Given the description of an element on the screen output the (x, y) to click on. 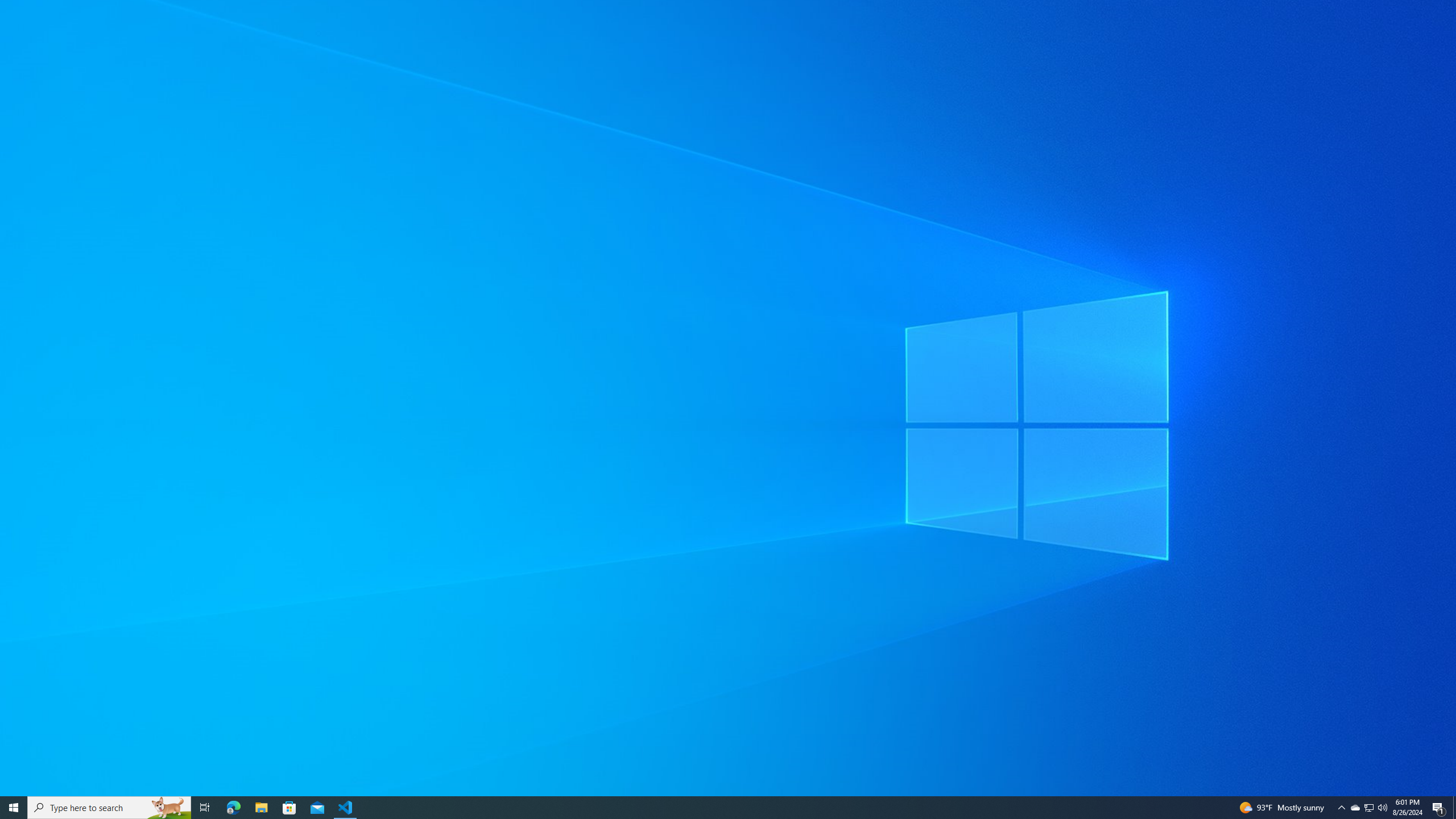
Q2790: 100% (1382, 807)
Search highlights icon opens search home window (167, 807)
